Given the description of an element on the screen output the (x, y) to click on. 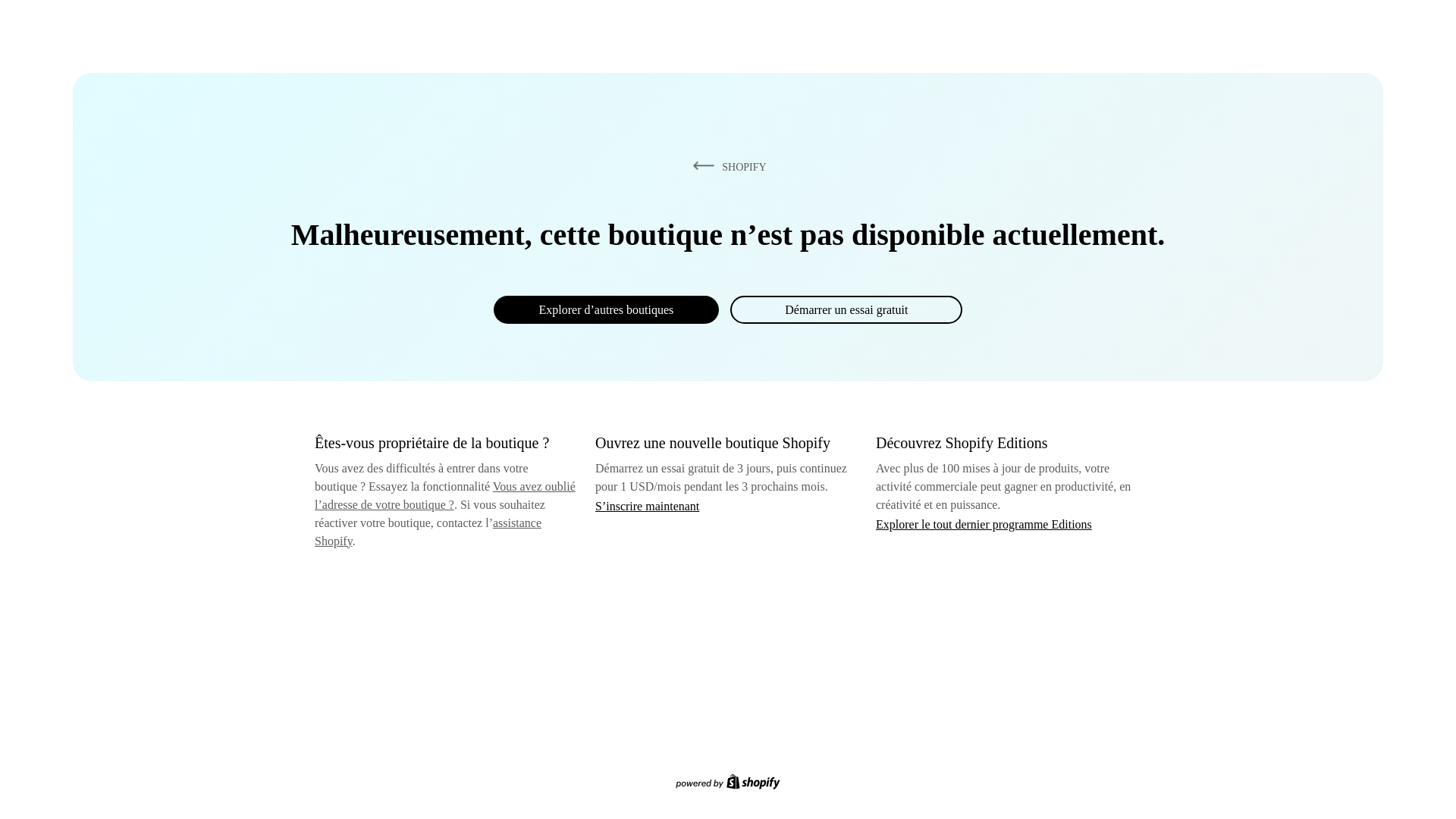
assistance Shopify (427, 531)
SHOPIFY (726, 166)
Explorer le tout dernier programme Editions (984, 523)
